Given the description of an element on the screen output the (x, y) to click on. 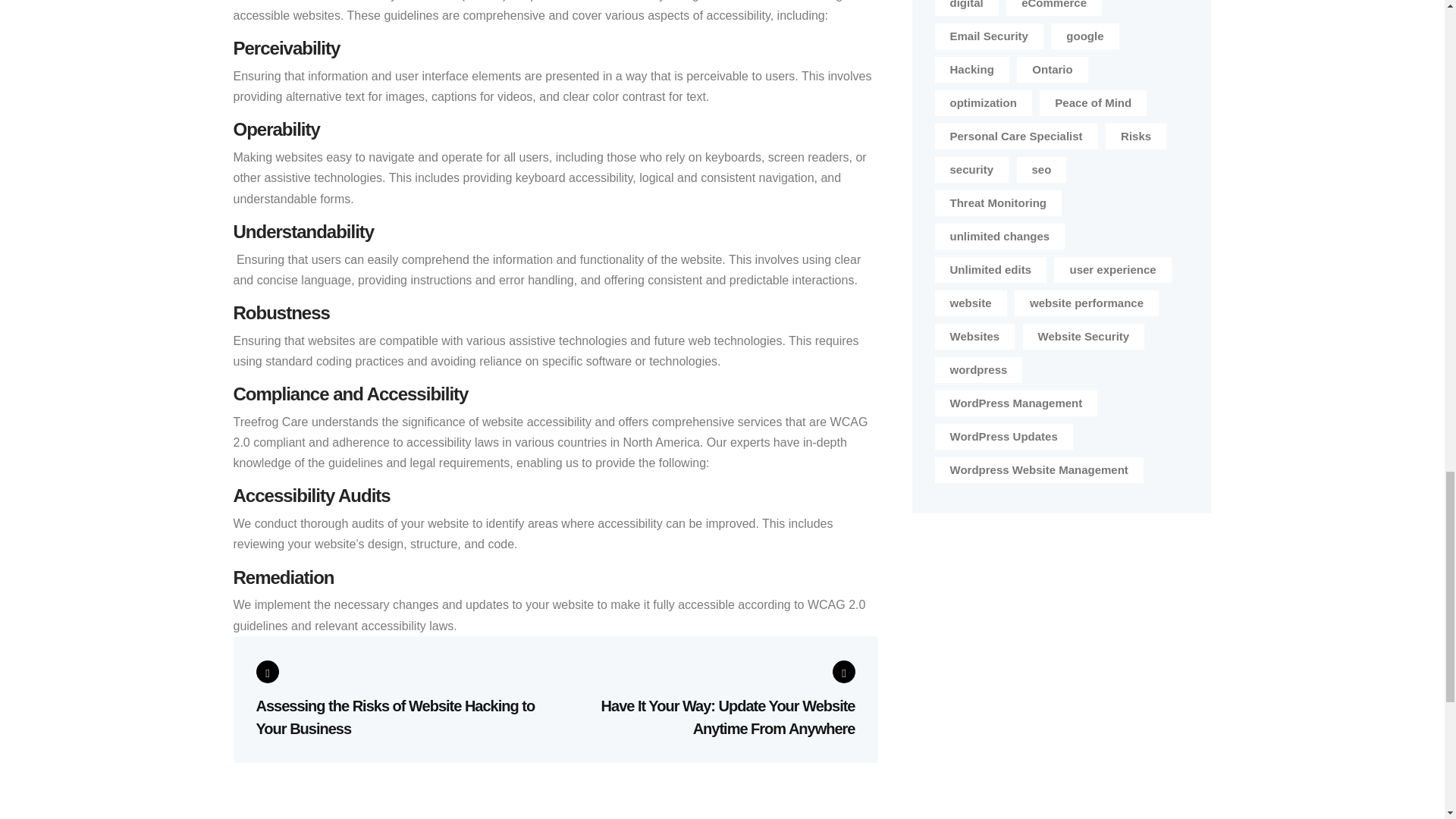
Have It Your Way: Update Your Website Anytime From Anywhere (712, 699)
Assessing the Risks of Website Hacking to Your Business (399, 700)
